Given the description of an element on the screen output the (x, y) to click on. 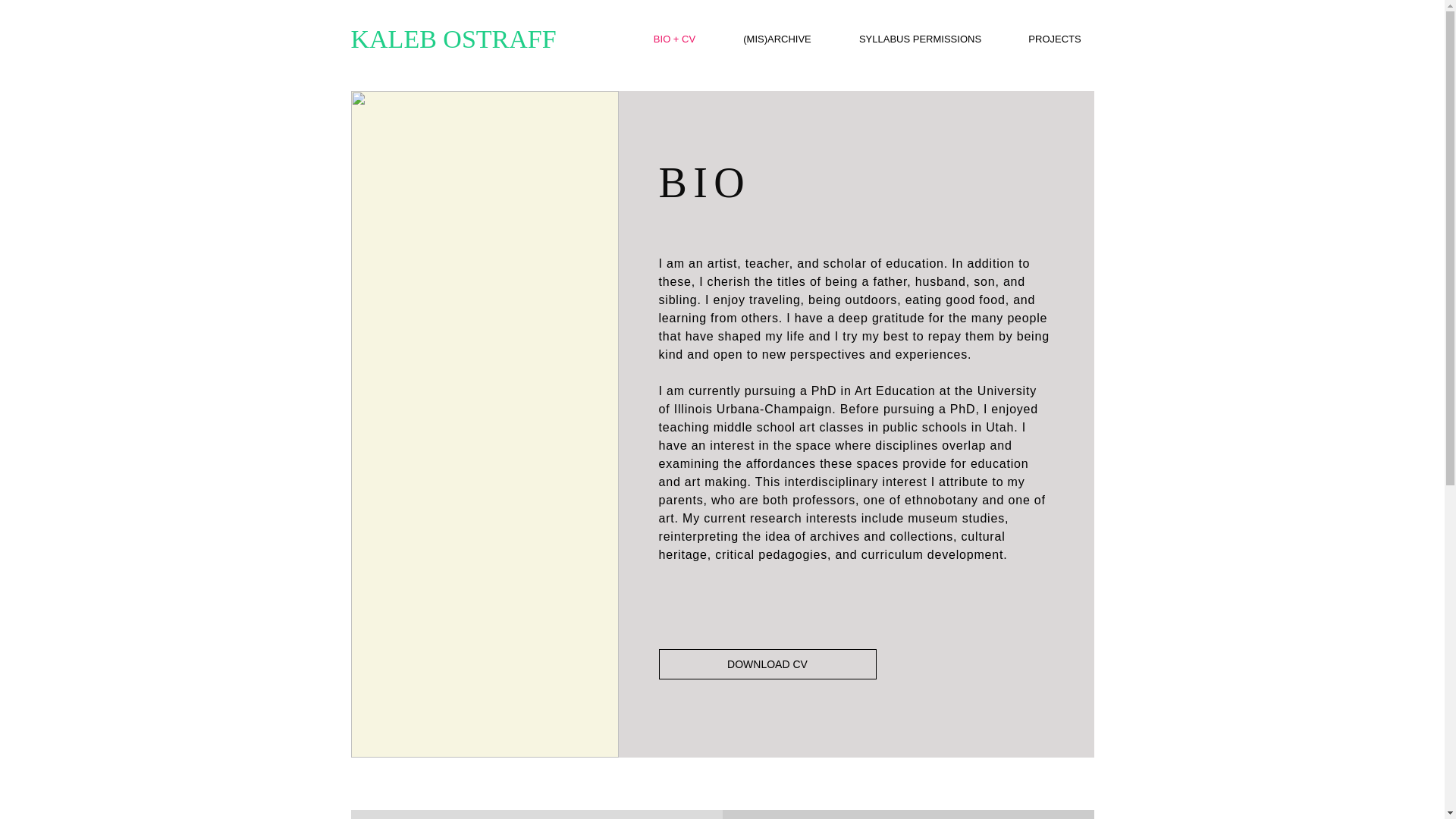
DOWNLOAD CV (767, 664)
SYLLABUS PERMISSIONS (920, 38)
KALEB OSTRAFF (453, 38)
PROJECTS (1055, 38)
